Given the description of an element on the screen output the (x, y) to click on. 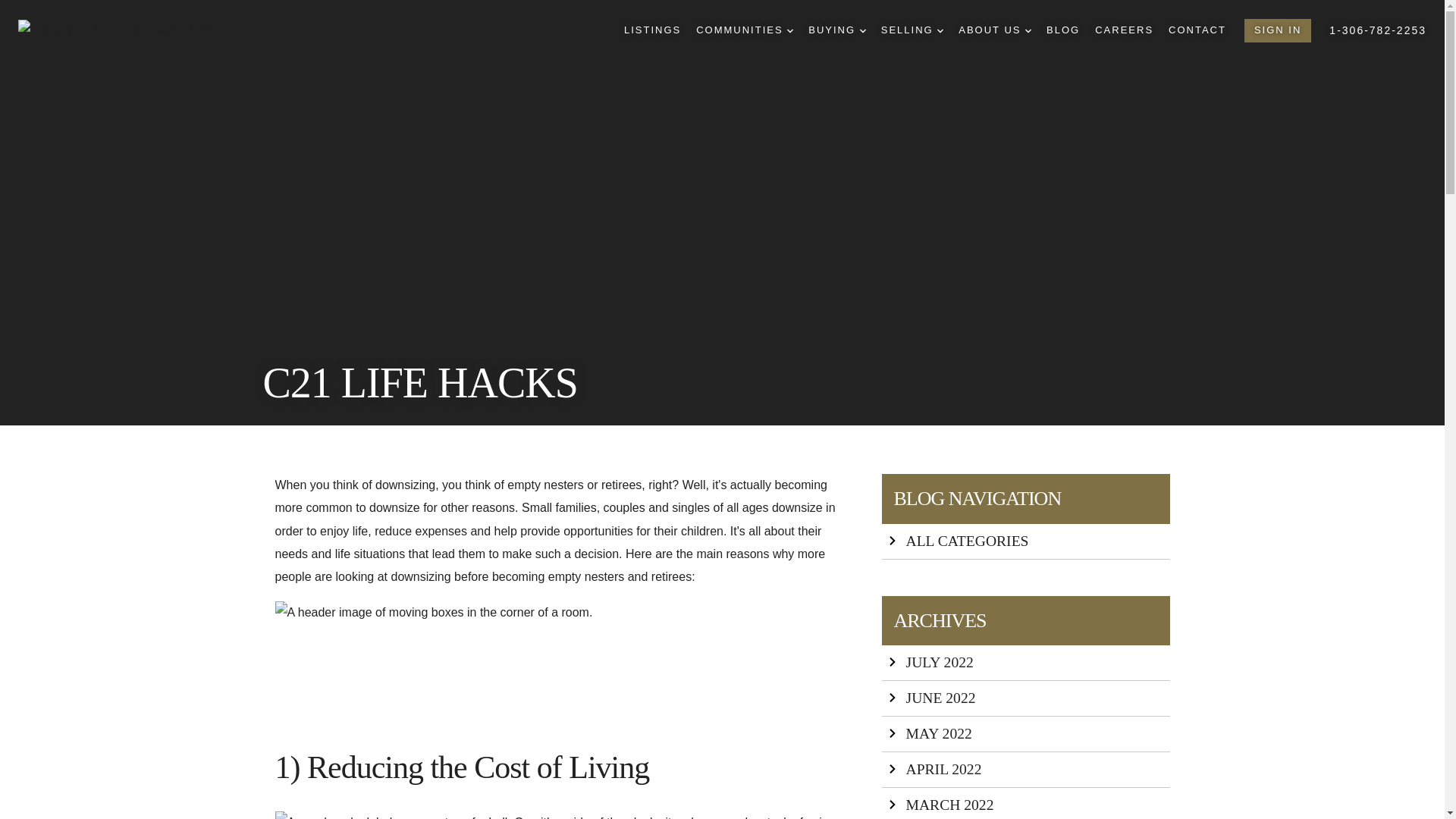
LISTINGS (652, 30)
BUYING DROPDOWN ARROW (836, 30)
ABOUT US DROPDOWN ARROW (994, 30)
CONTACT (1197, 30)
DROPDOWN ARROW (940, 30)
BLOG (1063, 30)
DROPDOWN ARROW (863, 30)
COMMUNITIES DROPDOWN ARROW (744, 30)
CAREERS (1123, 30)
SELLING DROPDOWN ARROW (911, 30)
DROPDOWN ARROW (790, 30)
DROPDOWN ARROW (1027, 30)
